Given the description of an element on the screen output the (x, y) to click on. 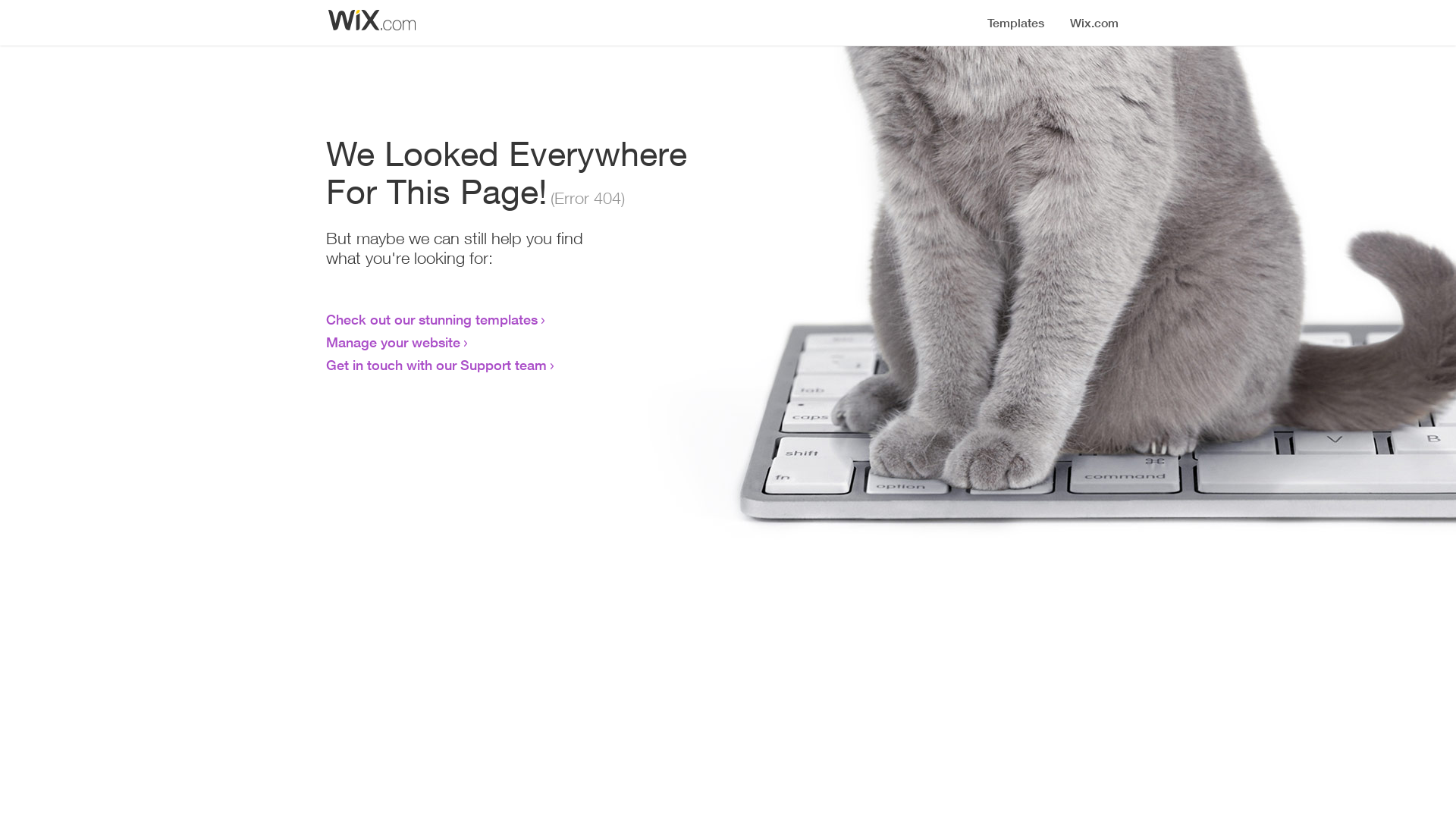
Get in touch with our Support team Element type: text (436, 364)
Check out our stunning templates Element type: text (431, 318)
Manage your website Element type: text (393, 341)
